Given the description of an element on the screen output the (x, y) to click on. 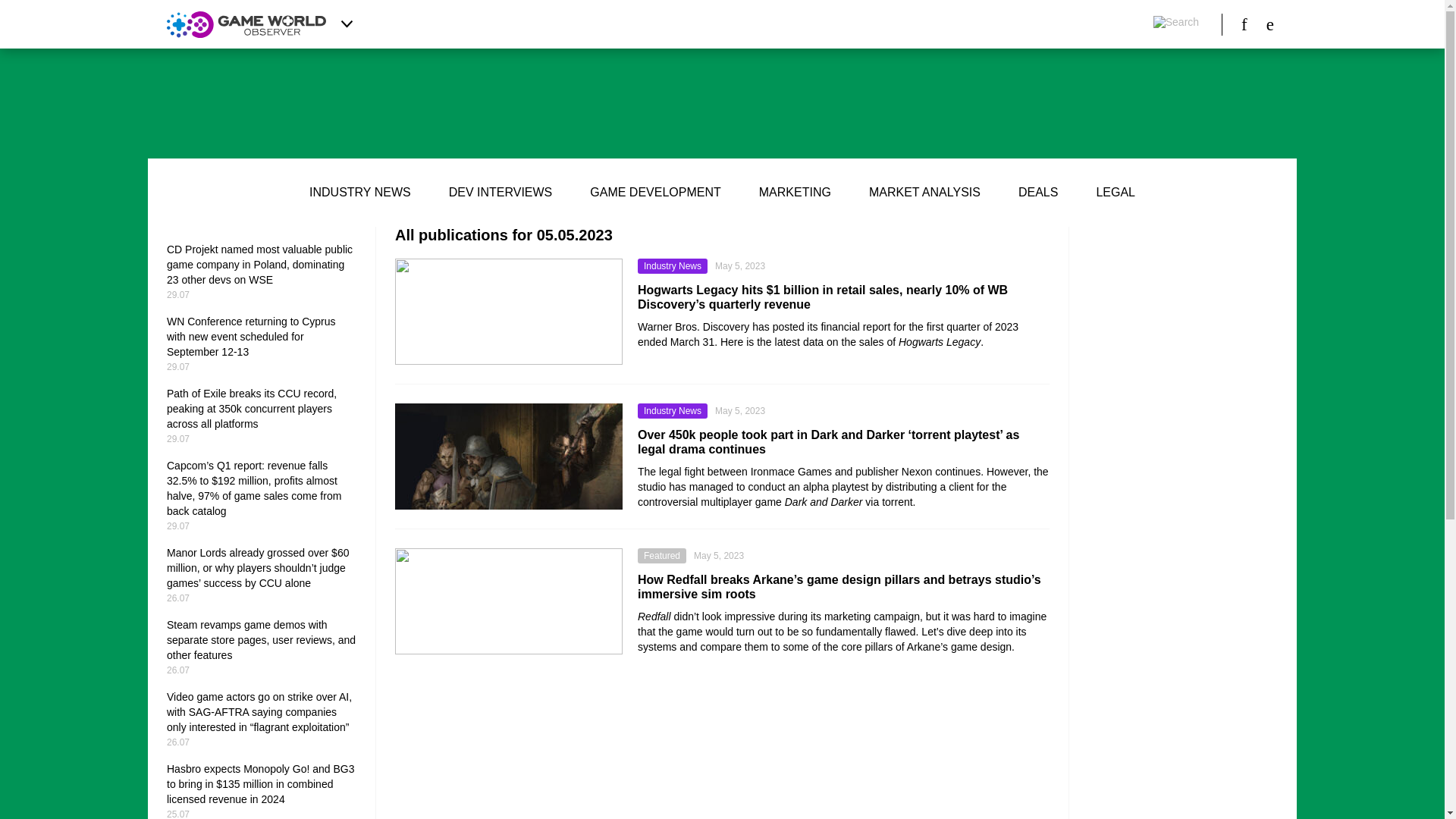
MARKETING (794, 192)
Home (246, 23)
INDUSTRY NEWS (359, 192)
DEV INTERVIEWS (500, 192)
GAME DEVELOPMENT (654, 192)
DEALS (1037, 192)
MARKET ANALYSIS (924, 192)
LEGAL (1115, 192)
Search (1175, 23)
